Given the description of an element on the screen output the (x, y) to click on. 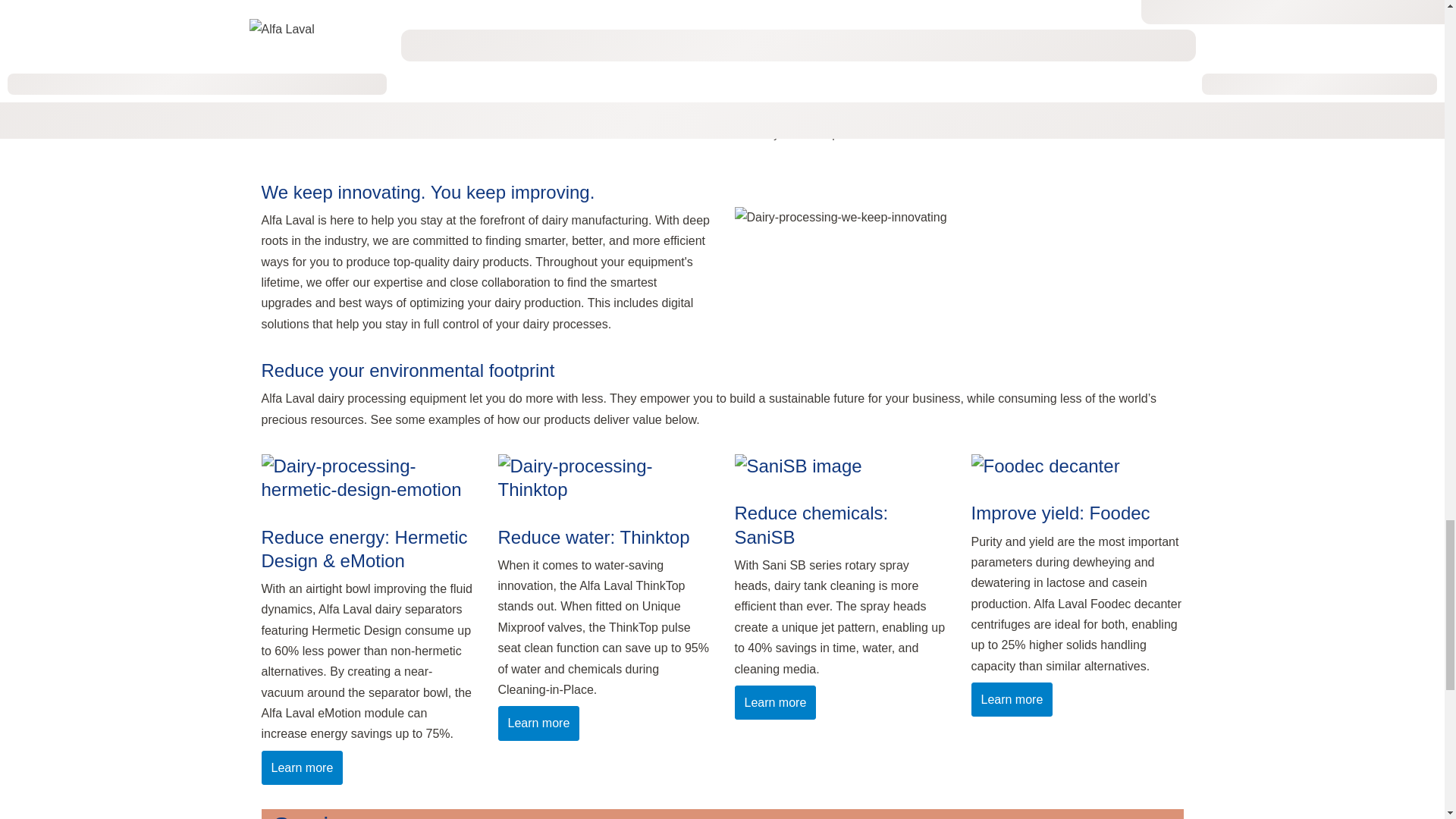
Learn more (301, 767)
Learn more (1011, 699)
Learn more (538, 722)
Learn more (774, 702)
